Given the description of an element on the screen output the (x, y) to click on. 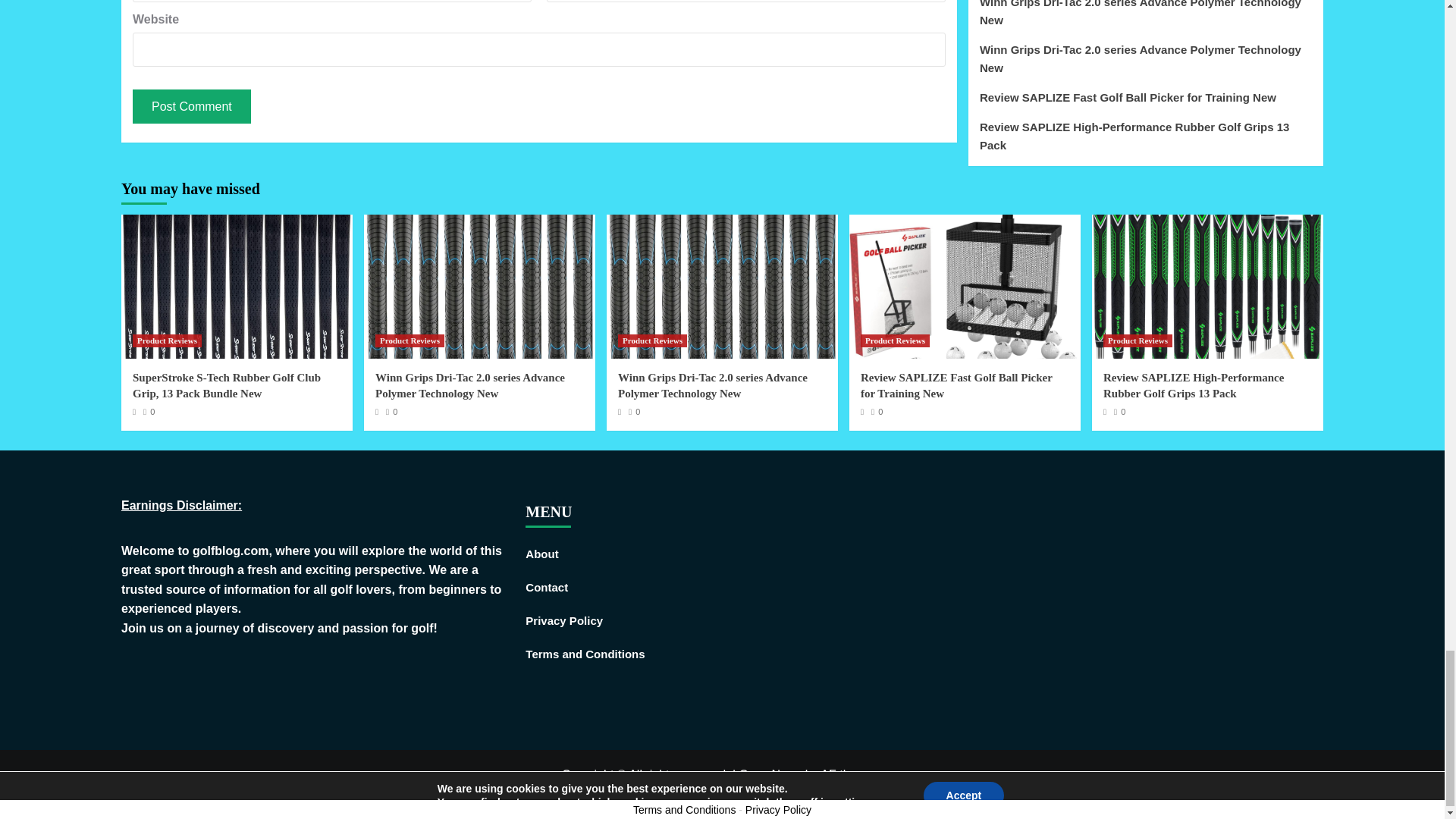
Post Comment (191, 106)
